Given the description of an element on the screen output the (x, y) to click on. 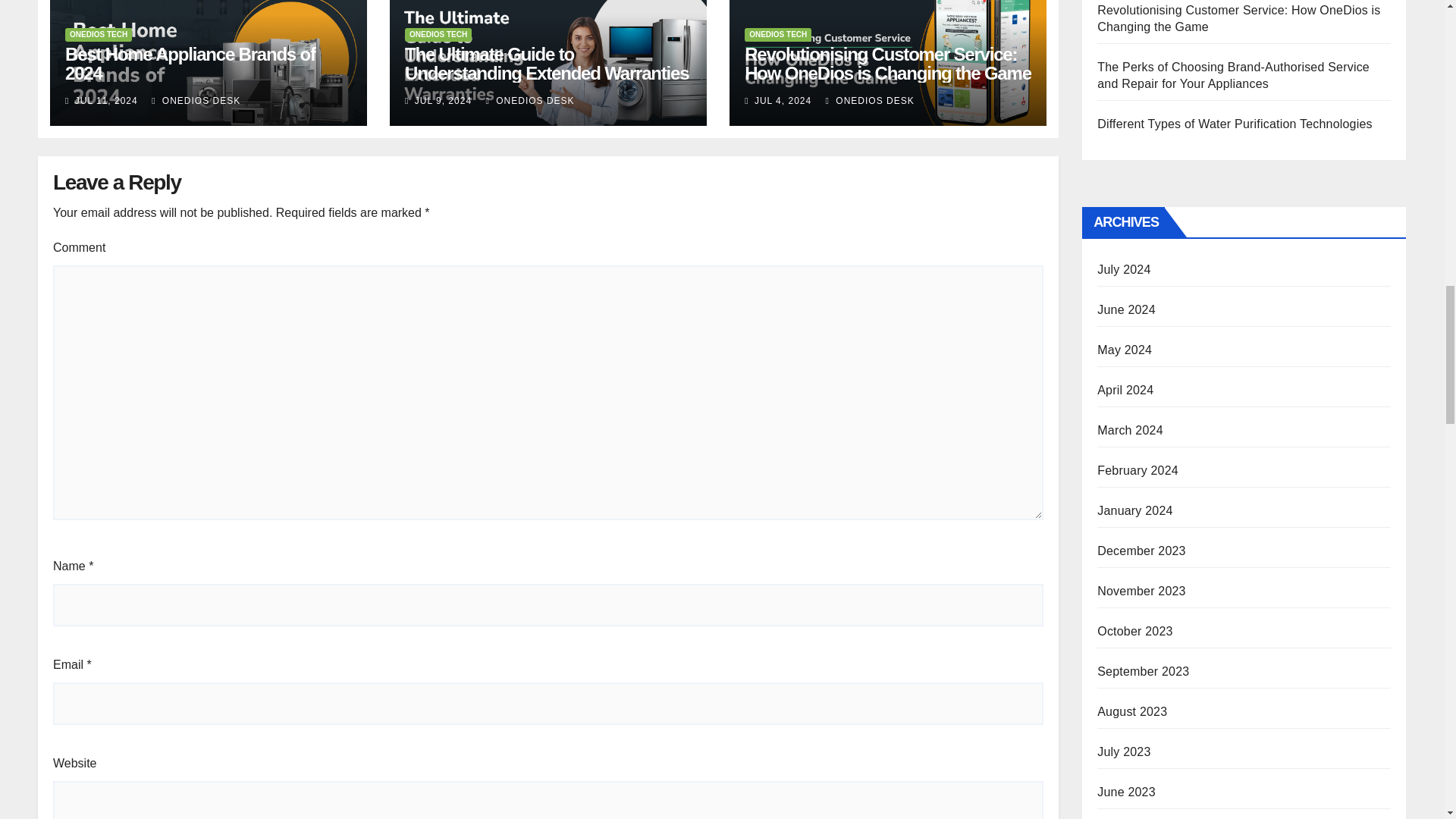
Permalink to: Best Home Appliance Brands of 2024 (190, 63)
